Given the description of an element on the screen output the (x, y) to click on. 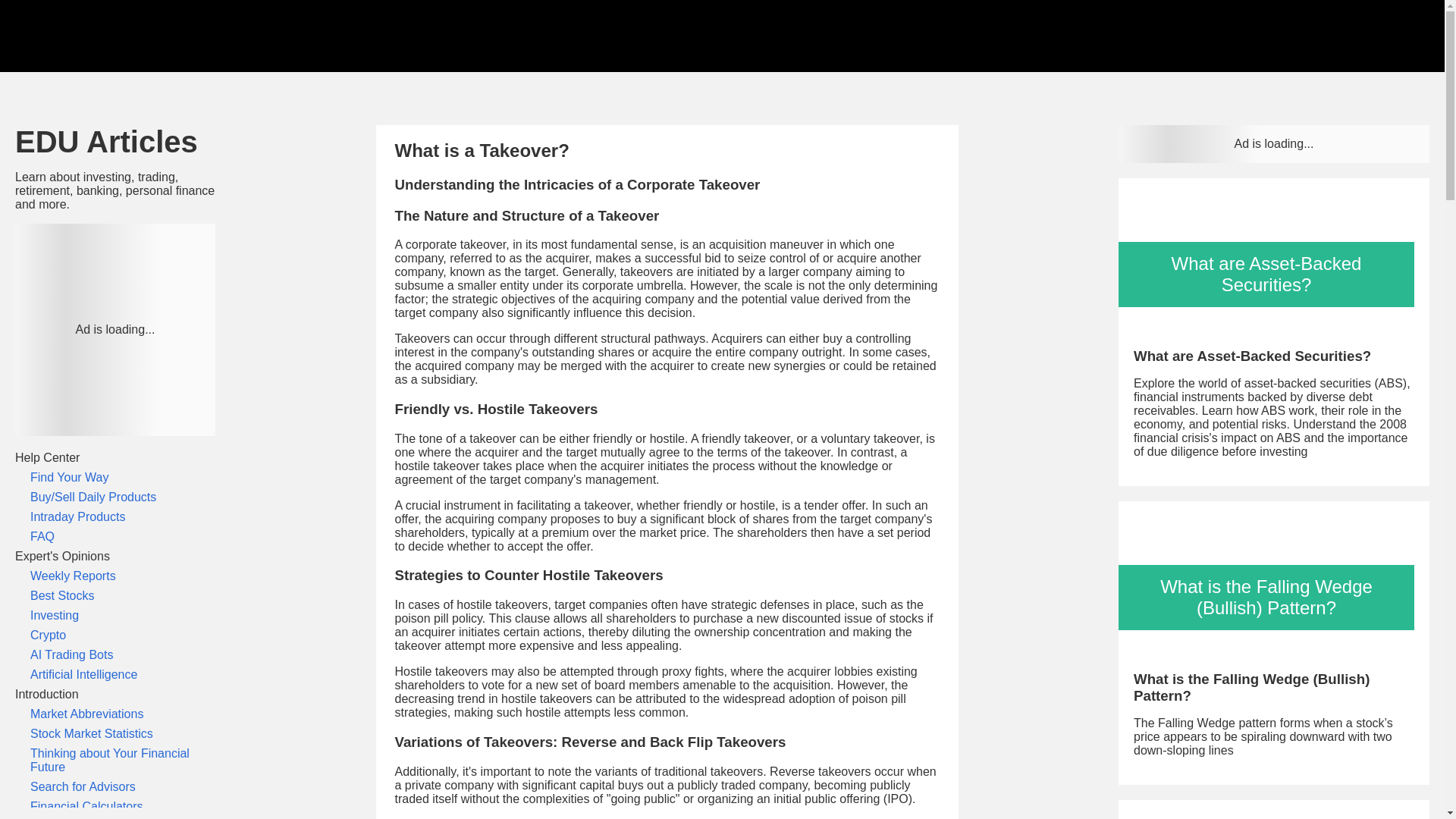
FAQ (114, 536)
Find Your Way (114, 477)
Search for Advisors (114, 786)
Thinking about Your Financial Future (114, 759)
Crypto (114, 635)
Market Abbreviations (114, 714)
AI Trading Bots (114, 654)
Stock Market Statistics (114, 734)
Financial Calculators (114, 807)
Intraday Products (114, 517)
Investing (114, 615)
Artificial Intelligence (114, 674)
Best Stocks (114, 595)
Weekly Reports (114, 576)
